Given the description of an element on the screen output the (x, y) to click on. 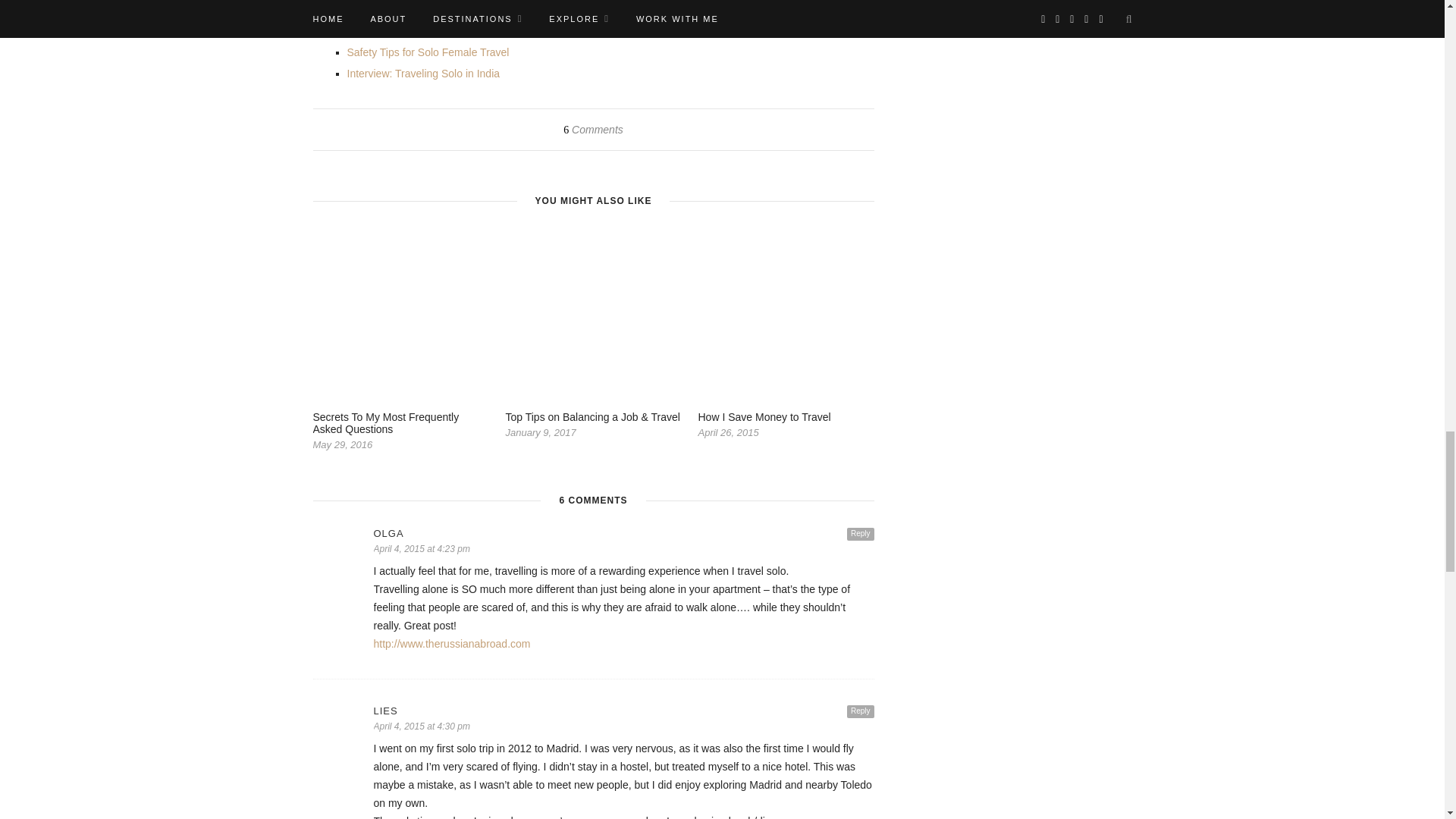
Interview: Traveling Solo in India (423, 73)
Reply (861, 533)
6 Comments (593, 129)
How I Save Money to Travel (763, 417)
Five Tips for Solo Travel (404, 30)
The Truth About Traveling Solo (420, 9)
OLGA (622, 532)
Secrets To My Most Frequently Asked Questions (385, 422)
Safety Tips for Solo Female Travel (428, 51)
